Given the description of an element on the screen output the (x, y) to click on. 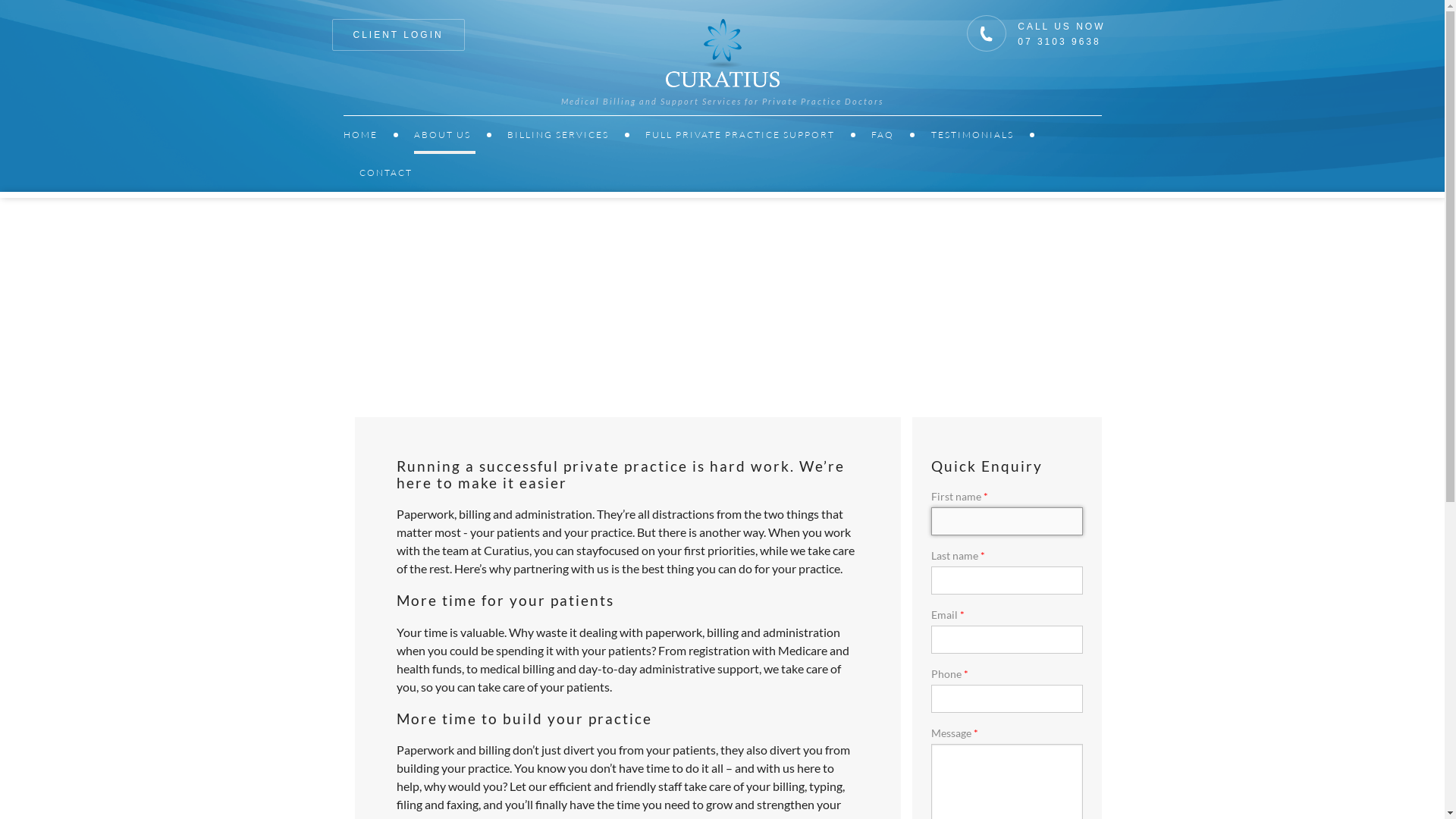
 Home Element type: hover (721, 52)
FULL PRIVATE PRACTICE SUPPORT Element type: text (742, 134)
FAQ Element type: text (884, 134)
CALL US NOW Element type: text (1060, 26)
HOME Element type: text (361, 134)
 Home Element type: hover (722, 52)
07 3103 9638 Element type: text (1058, 41)
BILLING SERVICES Element type: text (560, 134)
Skip to main content Element type: text (53, 0)
CONTACT Element type: text (385, 172)
ABOUT US Element type: text (444, 134)
CLIENT LOGIN Element type: text (398, 34)
TESTIMONIALS Element type: text (974, 134)
